Given the description of an element on the screen output the (x, y) to click on. 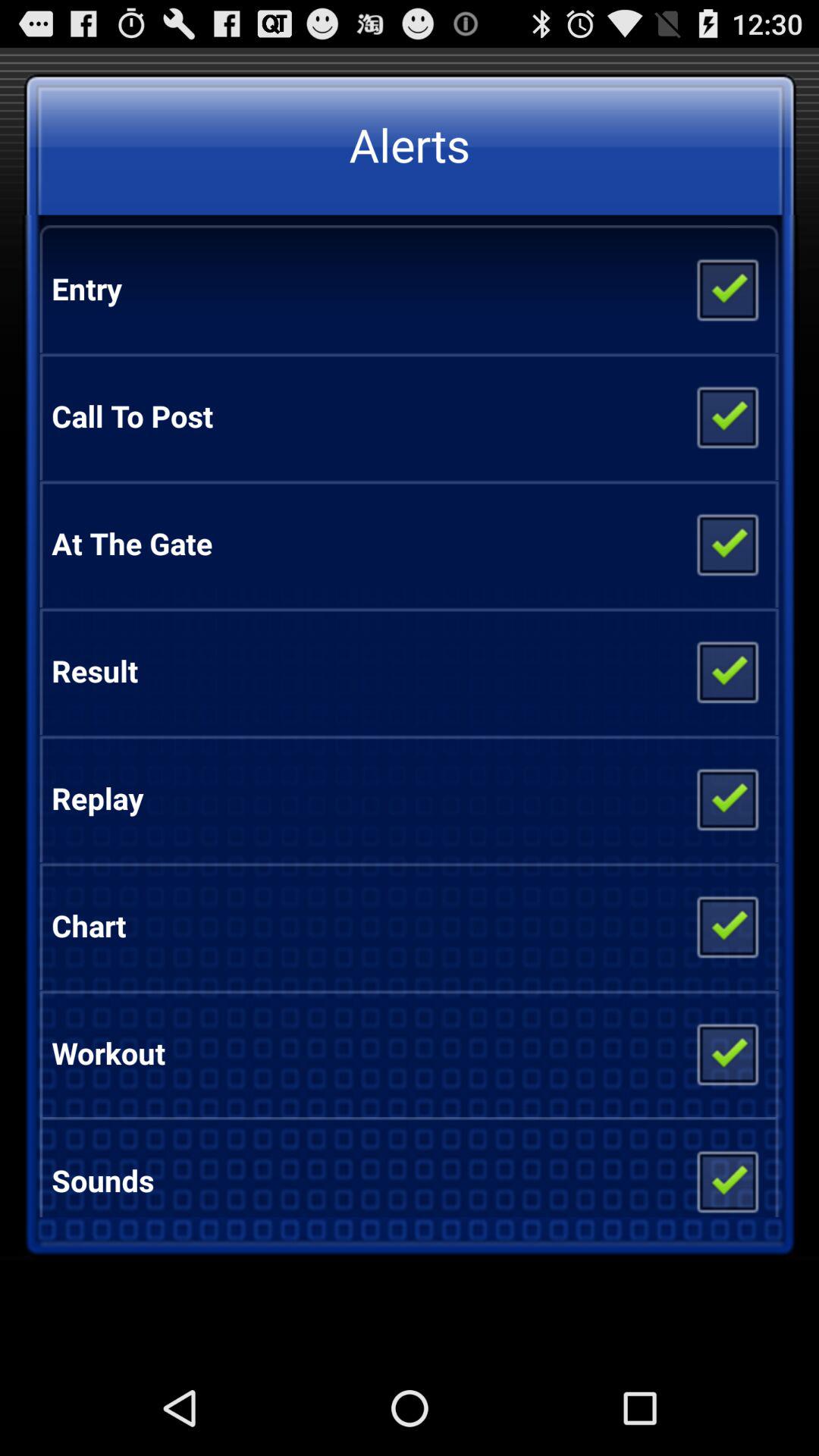
toggle on and off replay alert (726, 798)
